Given the description of an element on the screen output the (x, y) to click on. 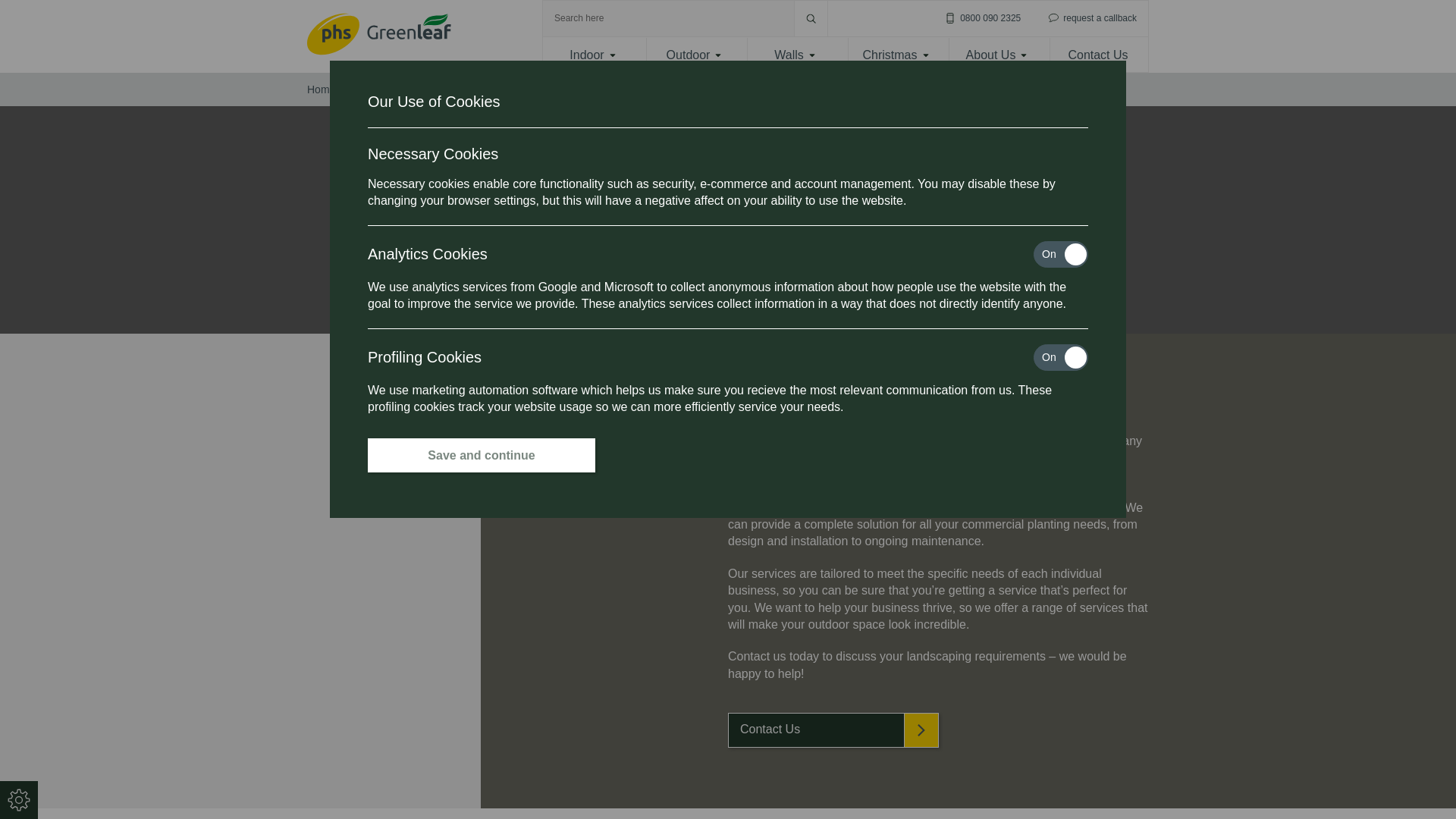
Submit search (810, 18)
About Us (997, 54)
Return to the homepage (379, 36)
Walls (794, 54)
Outdoor (694, 54)
request a callback (1090, 18)
Indoor (593, 54)
Contact Us (1097, 54)
